Given the description of an element on the screen output the (x, y) to click on. 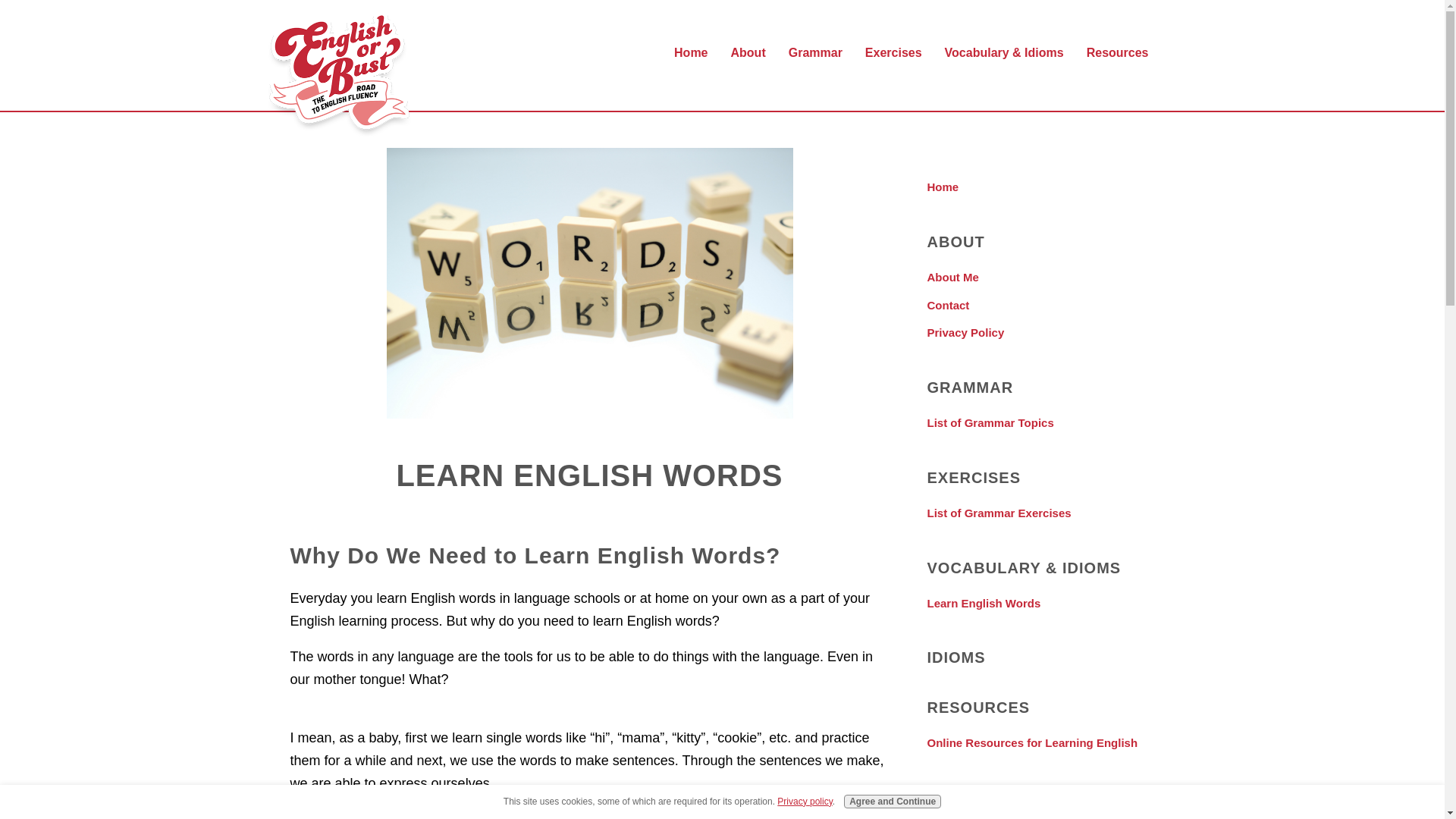
Agree and Continue (892, 801)
List of Grammar Topics (1040, 423)
Online Resources for Learning English (1040, 743)
List of Grammar Exercises (1040, 513)
Learn English Words (1040, 603)
Contact (1040, 305)
About Me (1040, 277)
Privacy Policy (1040, 333)
Home (692, 53)
Privacy policy (804, 801)
Home (1040, 187)
MY WEBSITE (338, 74)
